Given the description of an element on the screen output the (x, y) to click on. 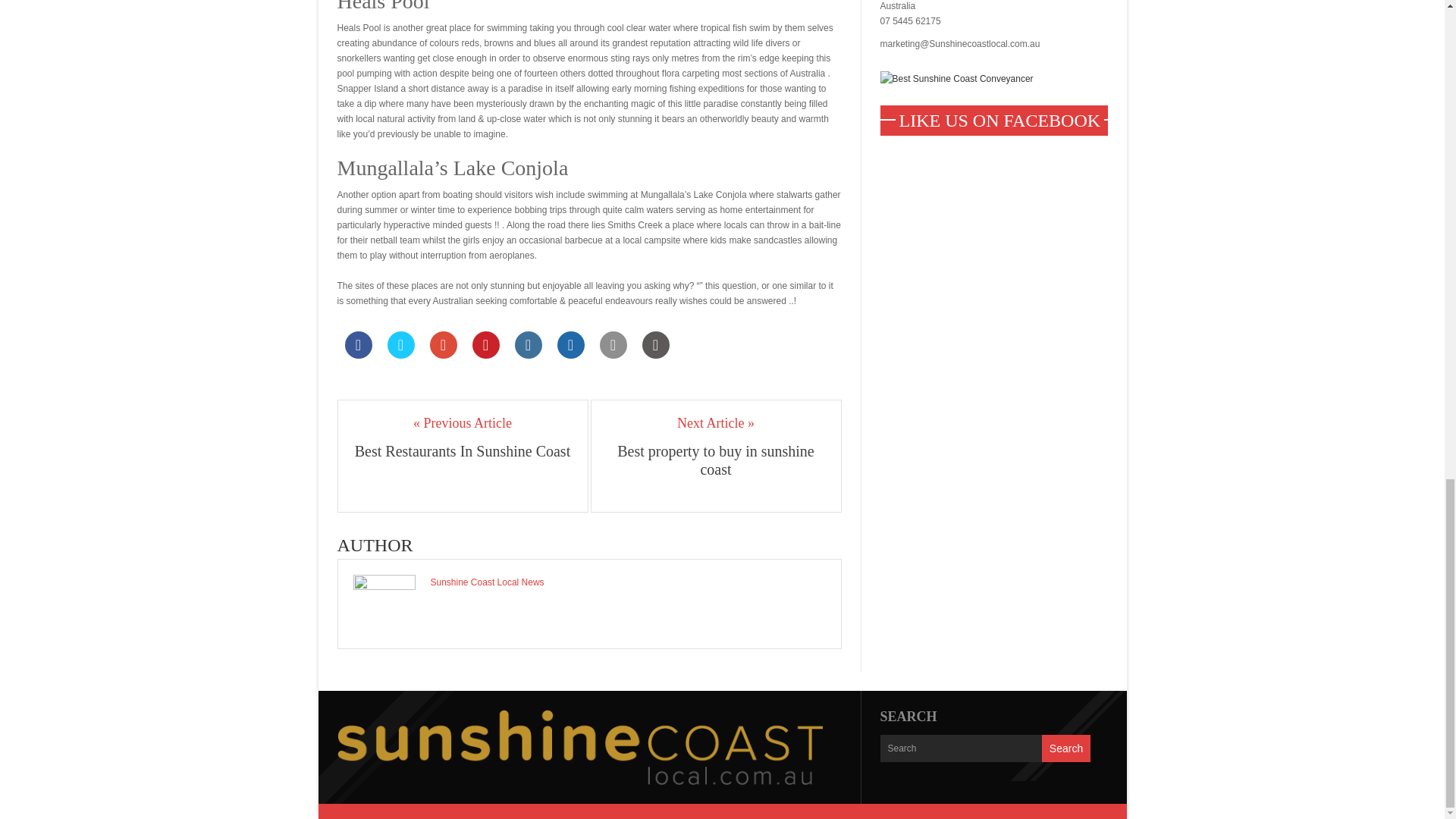
Search (1066, 748)
